Given the description of an element on the screen output the (x, y) to click on. 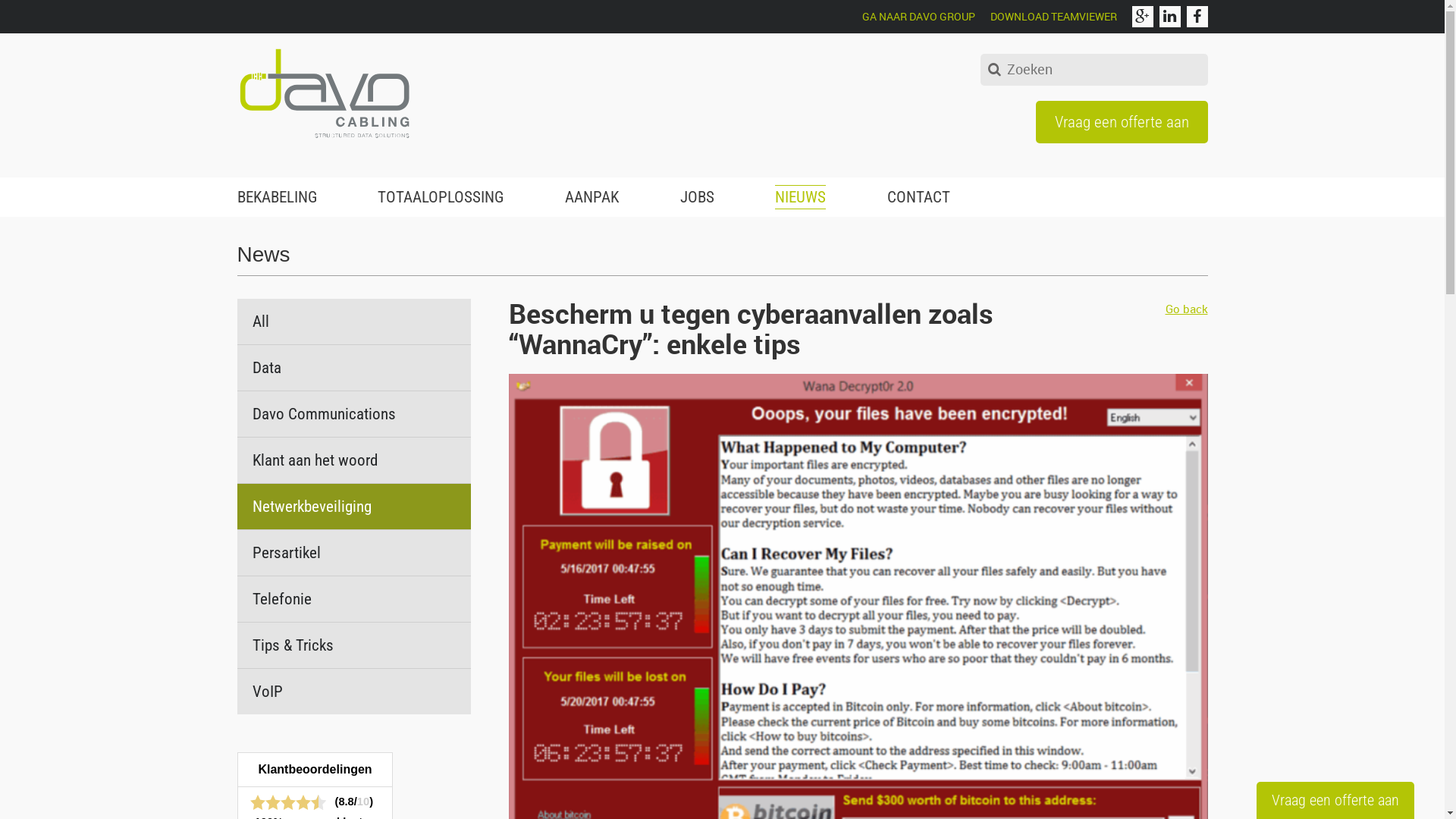
DOWNLOAD TEAMVIEWER Element type: text (1053, 16)
NIEUWS Element type: text (800, 197)
AANPAK Element type: text (591, 197)
Zoeken Element type: text (993, 70)
VoIP Element type: text (353, 691)
GA NAAR DAVO GROUP Element type: text (918, 16)
Netwerkbeveiliging Element type: text (353, 506)
Go back Element type: text (1185, 309)
All Element type: text (353, 321)
Davo Communications Element type: text (353, 413)
Davo Cabling - Structured data solutions Element type: hover (323, 93)
CONTACT Element type: text (918, 197)
TOTAALOPLOSSING Element type: text (440, 197)
Vraag een offerte aan Element type: text (1121, 121)
Data Element type: text (353, 367)
BEKABELING Element type: text (276, 197)
Tips & Tricks Element type: text (353, 645)
Klant aan het woord Element type: text (353, 460)
Telefonie Element type: text (353, 598)
JOBS Element type: text (697, 197)
Persartikel Element type: text (353, 552)
